Given the description of an element on the screen output the (x, y) to click on. 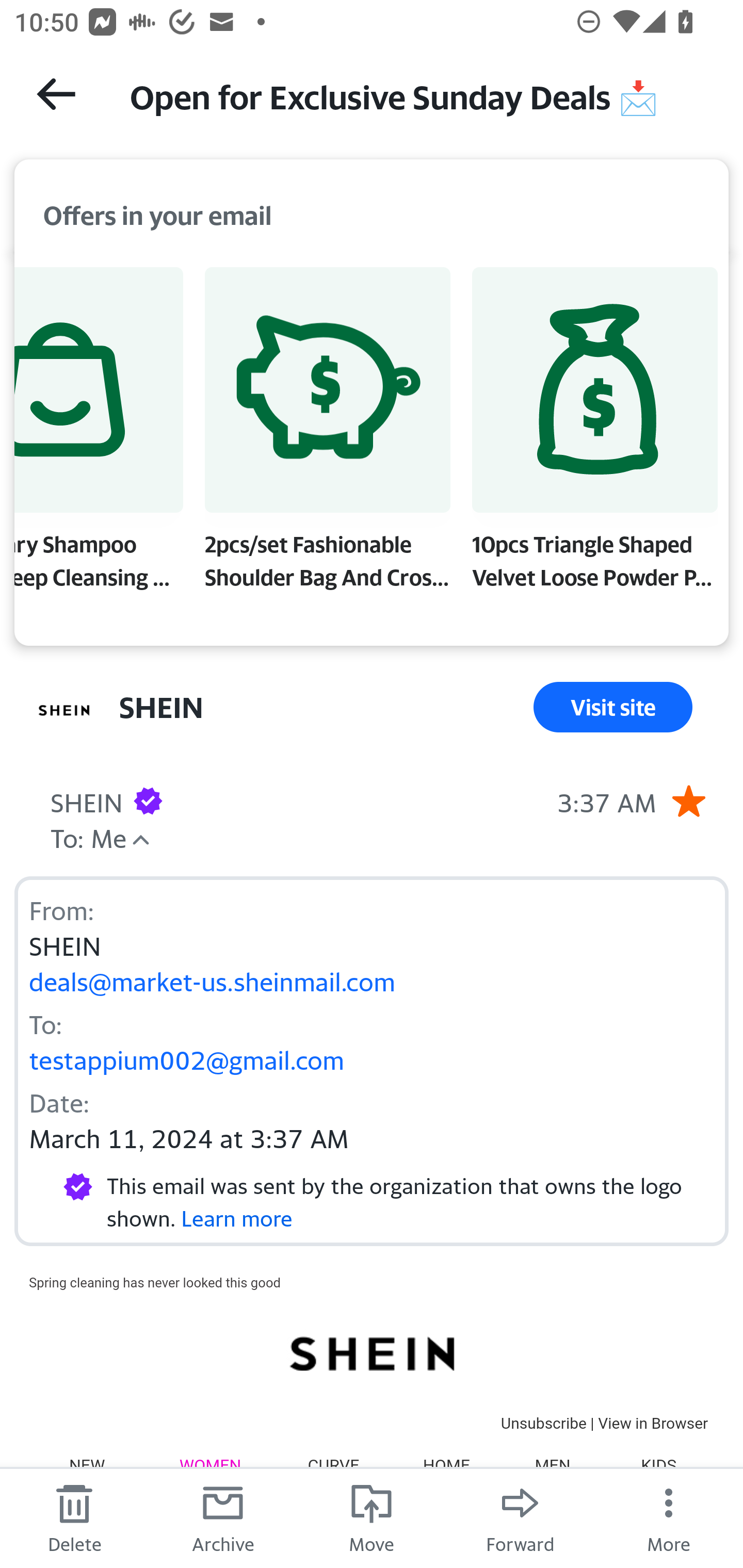
Back (55, 93)
Open for Exclusive Sunday Deals 📩 (418, 94)
View all messages from sender (64, 711)
Visit site Visit Site Link (612, 707)
SHEIN Sender SHEIN (160, 706)
SHEIN Sender SHEIN (86, 800)
Remove star. (688, 800)
To: Me Hide details (88, 836)
Spring cleaning has never looked this good (154, 1281)
SHEIN (370, 1352)
Unsubscribe (543, 1422)
View in Browser (652, 1422)
Delete (74, 1517)
Archive (222, 1517)
Move (371, 1517)
Forward (519, 1517)
More (668, 1517)
